Given the description of an element on the screen output the (x, y) to click on. 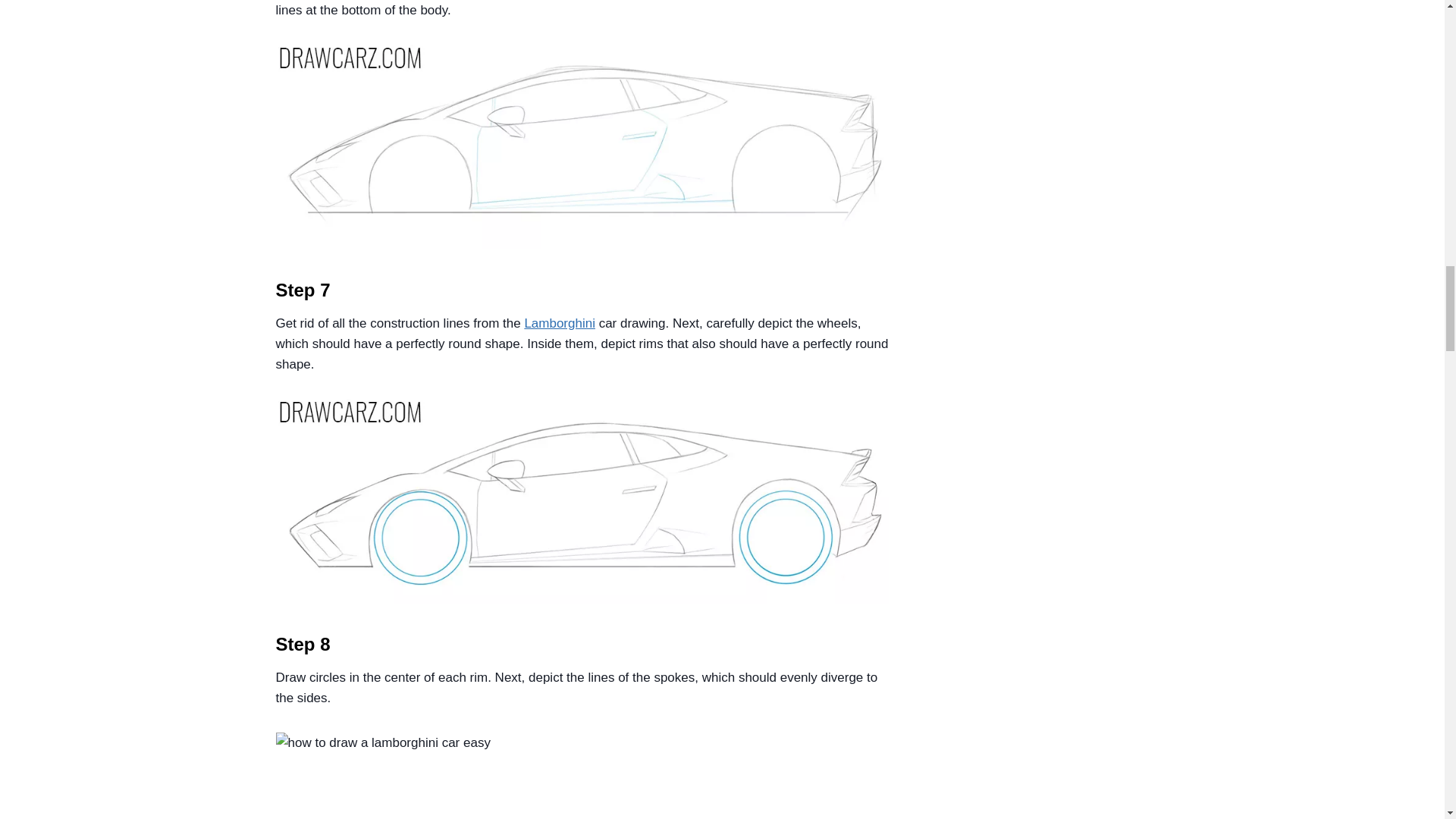
Lamborghini (559, 323)
